Given the description of an element on the screen output the (x, y) to click on. 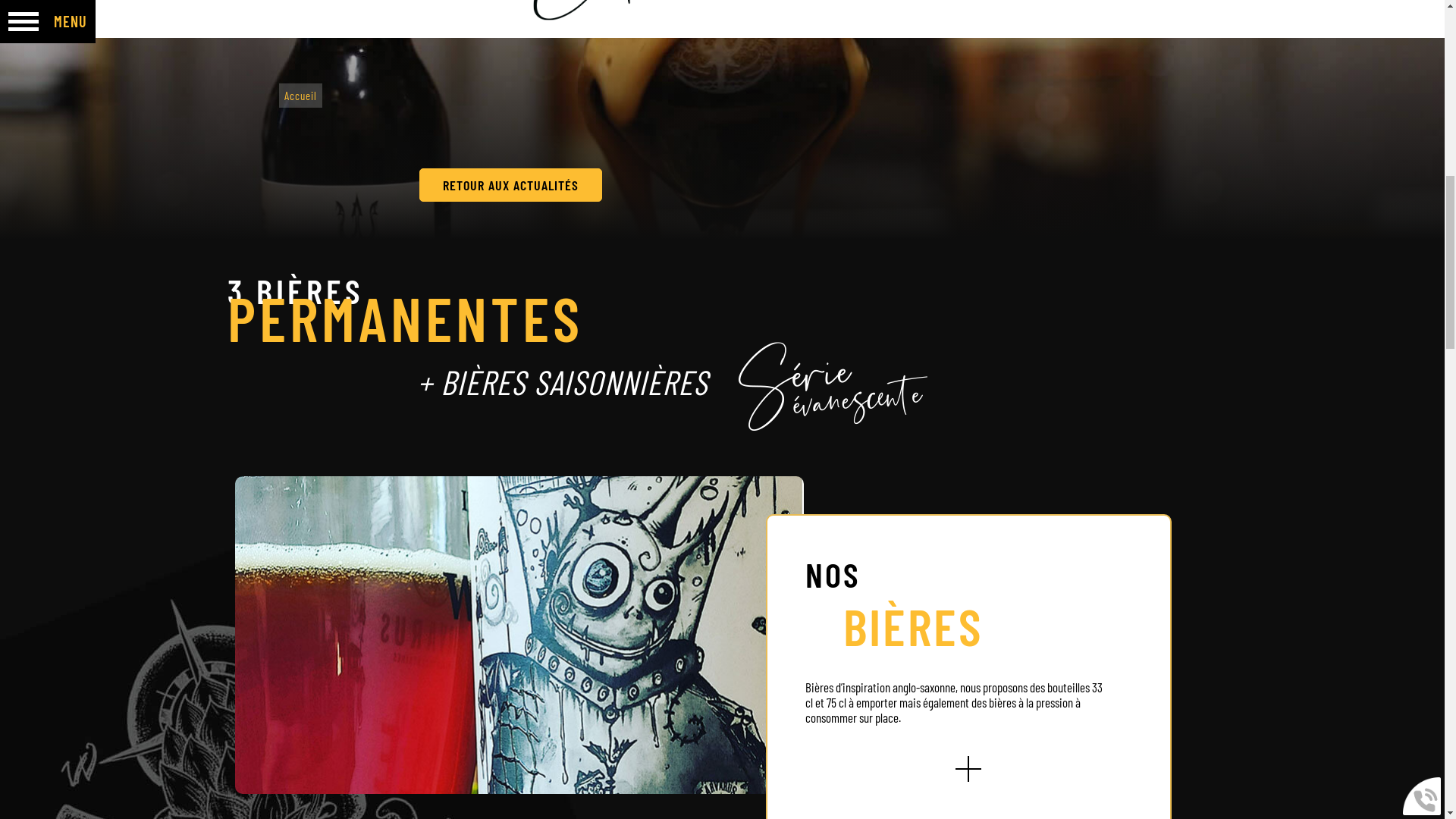
linkedin Element type: hover (1404, 33)
Logo Arvarus Element type: hover (722, 204)
facebook Element type: hover (1305, 33)
09 81 00 11 08 Element type: text (1222, 32)
instagram Element type: hover (1355, 33)
